Given the description of an element on the screen output the (x, y) to click on. 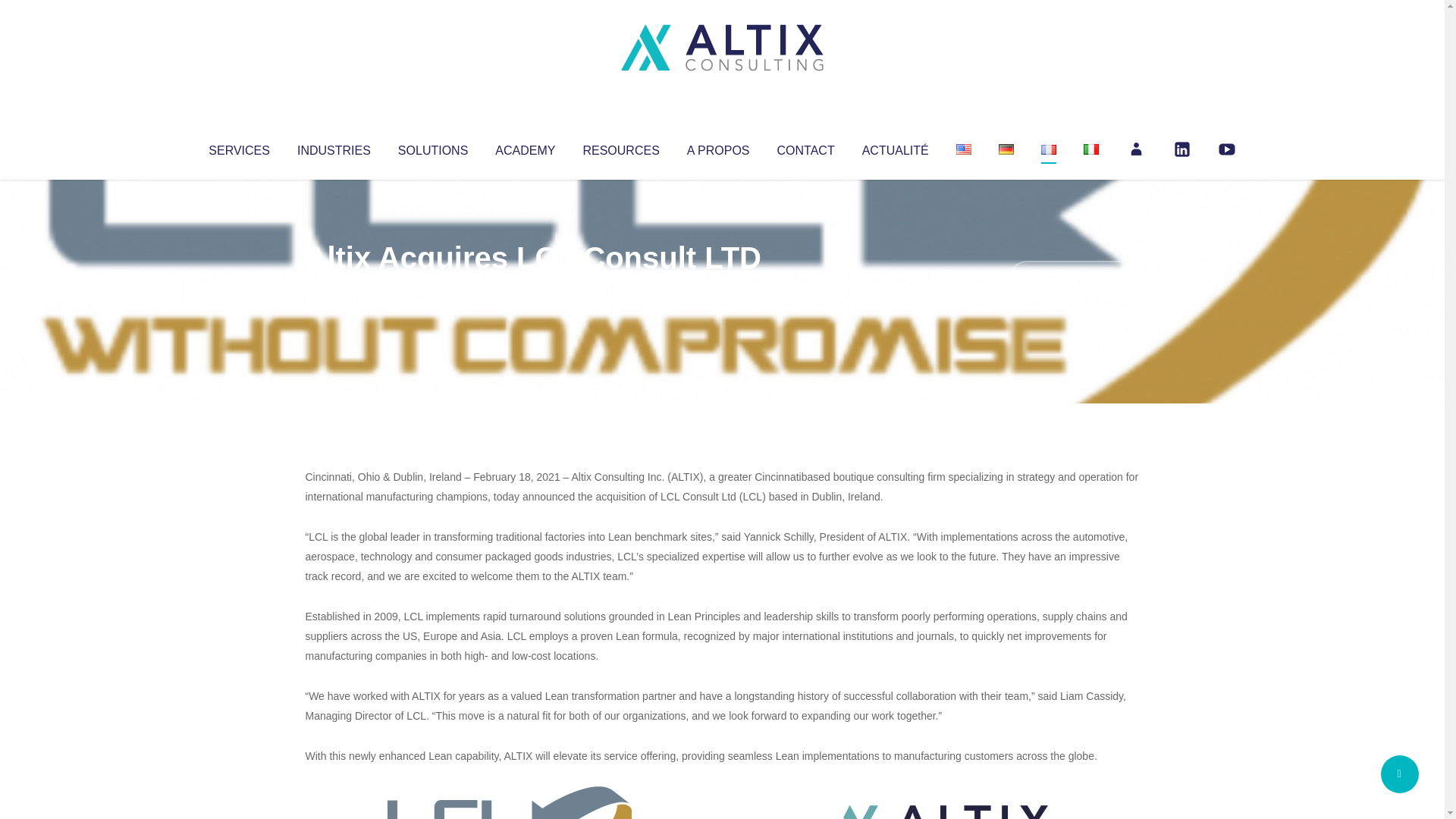
SOLUTIONS (432, 146)
No Comments (1073, 278)
ACADEMY (524, 146)
A PROPOS (718, 146)
Uncategorized (530, 287)
SERVICES (238, 146)
Altix (333, 287)
INDUSTRIES (334, 146)
Articles par Altix (333, 287)
RESOURCES (620, 146)
